Given the description of an element on the screen output the (x, y) to click on. 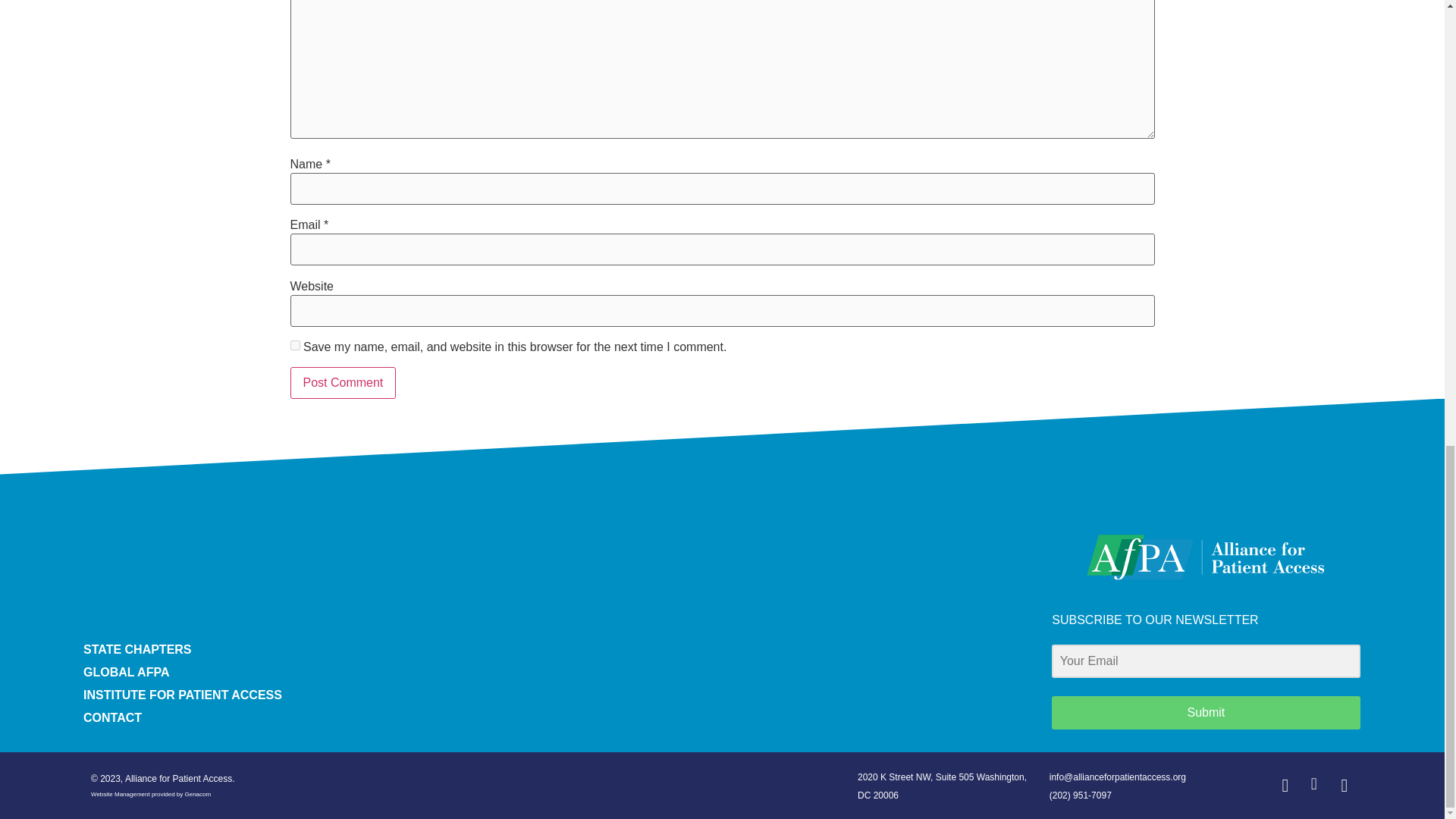
CONTACT (559, 717)
GLOBAL AFPA (559, 671)
STATE CHAPTERS (559, 649)
yes (294, 345)
2020 K Street NW, Suite 505 Washington, DC 20006 (941, 786)
Website Management (119, 794)
INSTITUTE FOR PATIENT ACCESS (559, 694)
Post Comment (342, 382)
Post Comment (342, 382)
Genacom (197, 794)
Submit (1205, 712)
